Given the description of an element on the screen output the (x, y) to click on. 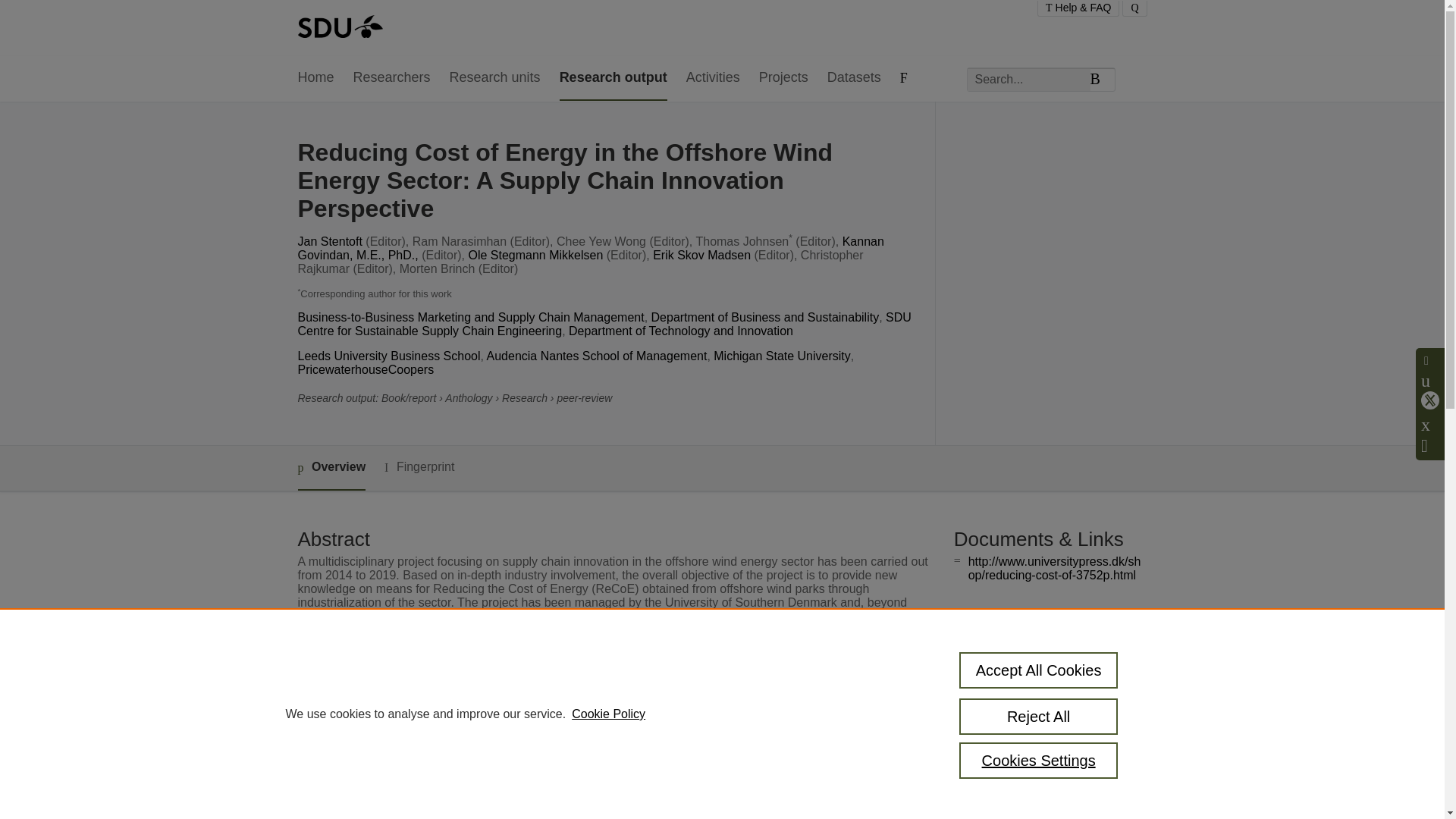
Jan Stentoft (329, 241)
Michigan State University (781, 355)
SDU Centre for Sustainable Supply Chain Engineering (604, 324)
Erik Skov Madsen (701, 254)
Projects (783, 78)
Kannan Govindan, M.E., PhD., (590, 248)
Business-to-Business Marketing and Supply Chain Management (470, 317)
Research output (612, 78)
Activities (712, 78)
Overview (331, 467)
Fingerprint (419, 466)
Department of Technology and Innovation (681, 330)
Research units (494, 78)
Ole Stegmann Mikkelsen (534, 254)
Audencia Nantes School of Management (596, 355)
